Given the description of an element on the screen output the (x, y) to click on. 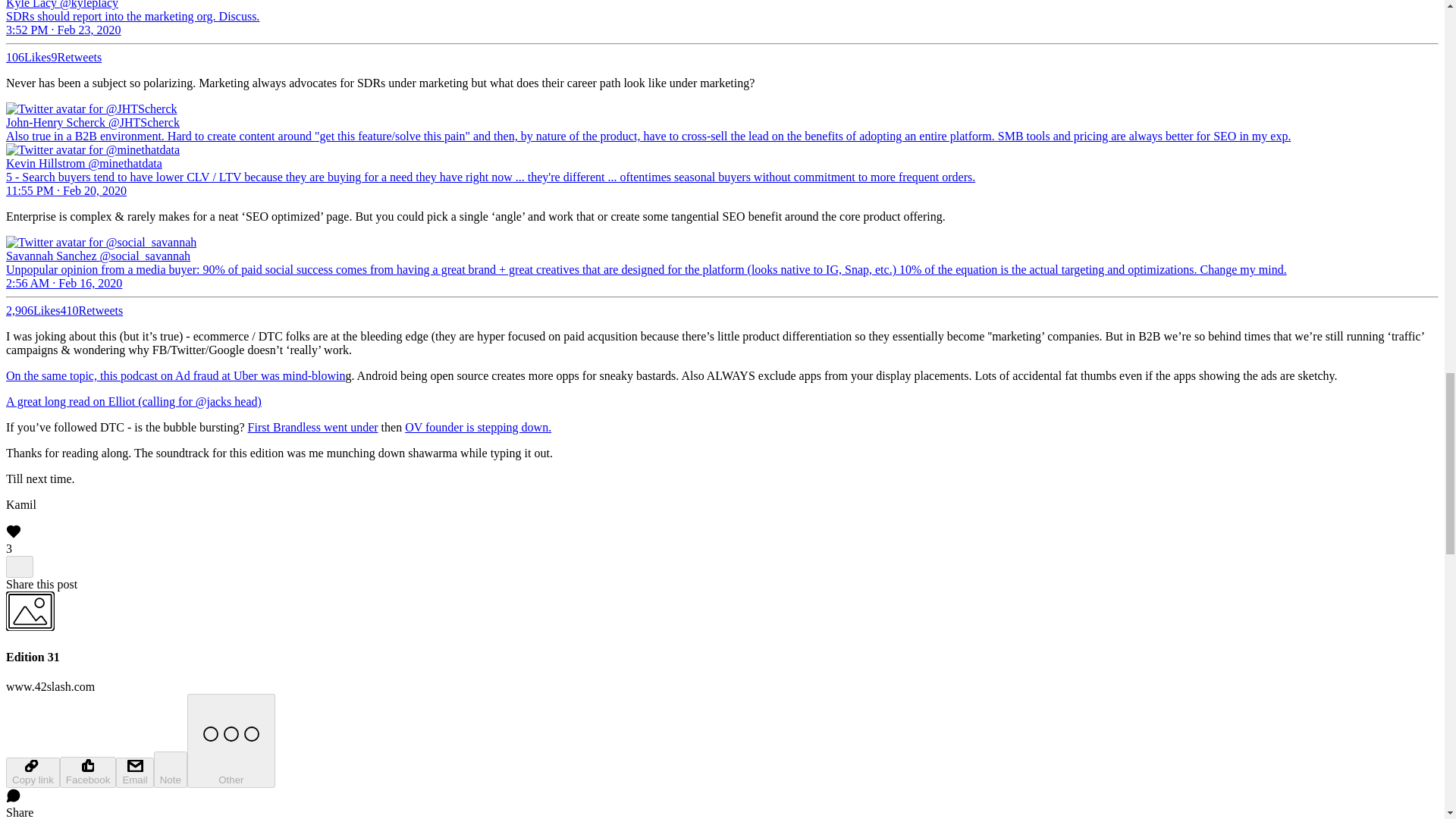
First Brandless went under (312, 427)
OV founder is stepping down. (477, 427)
Copy link (32, 772)
